Given the description of an element on the screen output the (x, y) to click on. 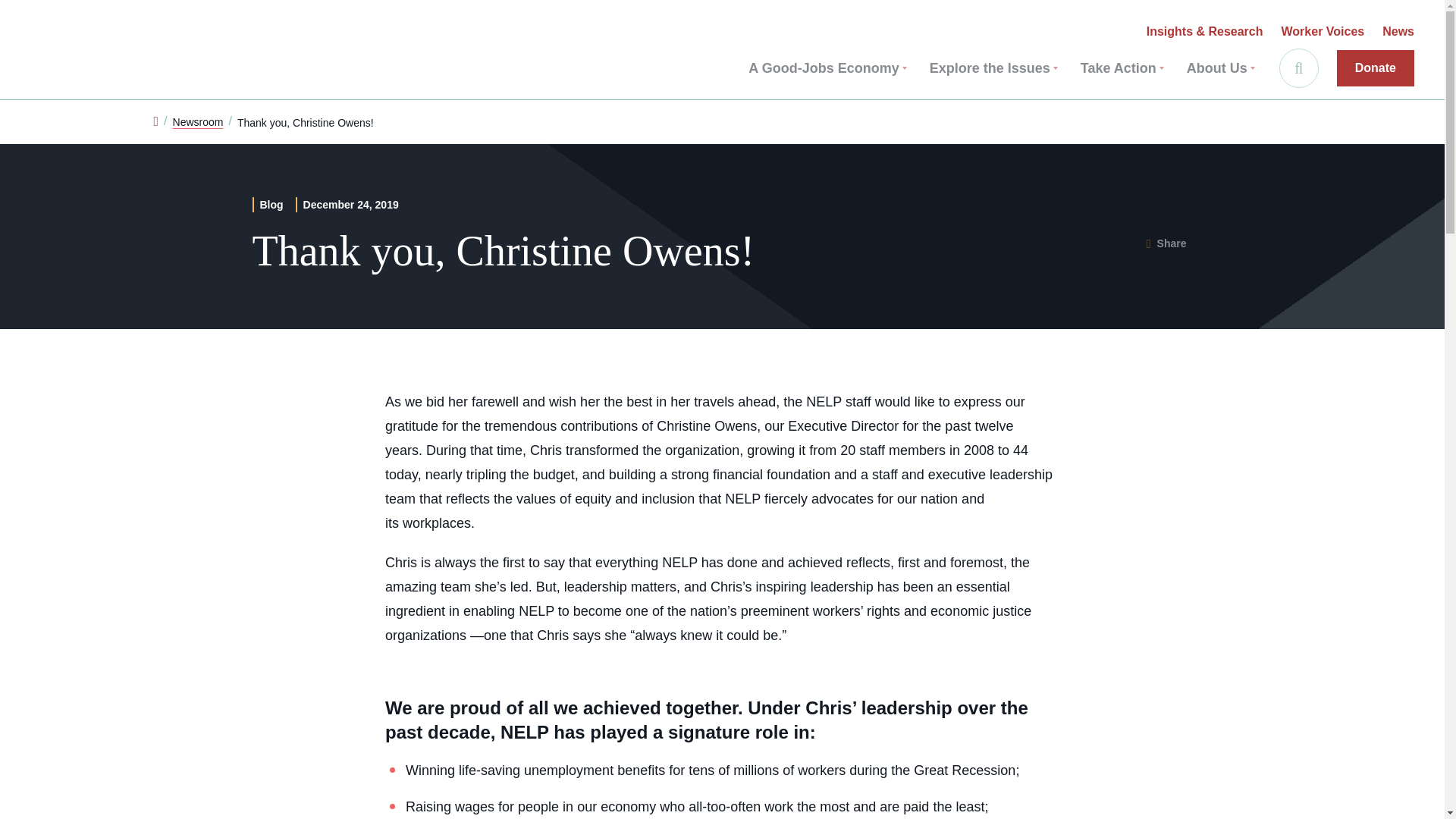
A Good-Jobs Economy (826, 68)
About Us (1220, 68)
Take Action (1121, 68)
Worker Voices (1323, 31)
Explore the Issues (994, 68)
News (1397, 31)
Donate (1374, 67)
Skip to main content (21, 15)
